Given the description of an element on the screen output the (x, y) to click on. 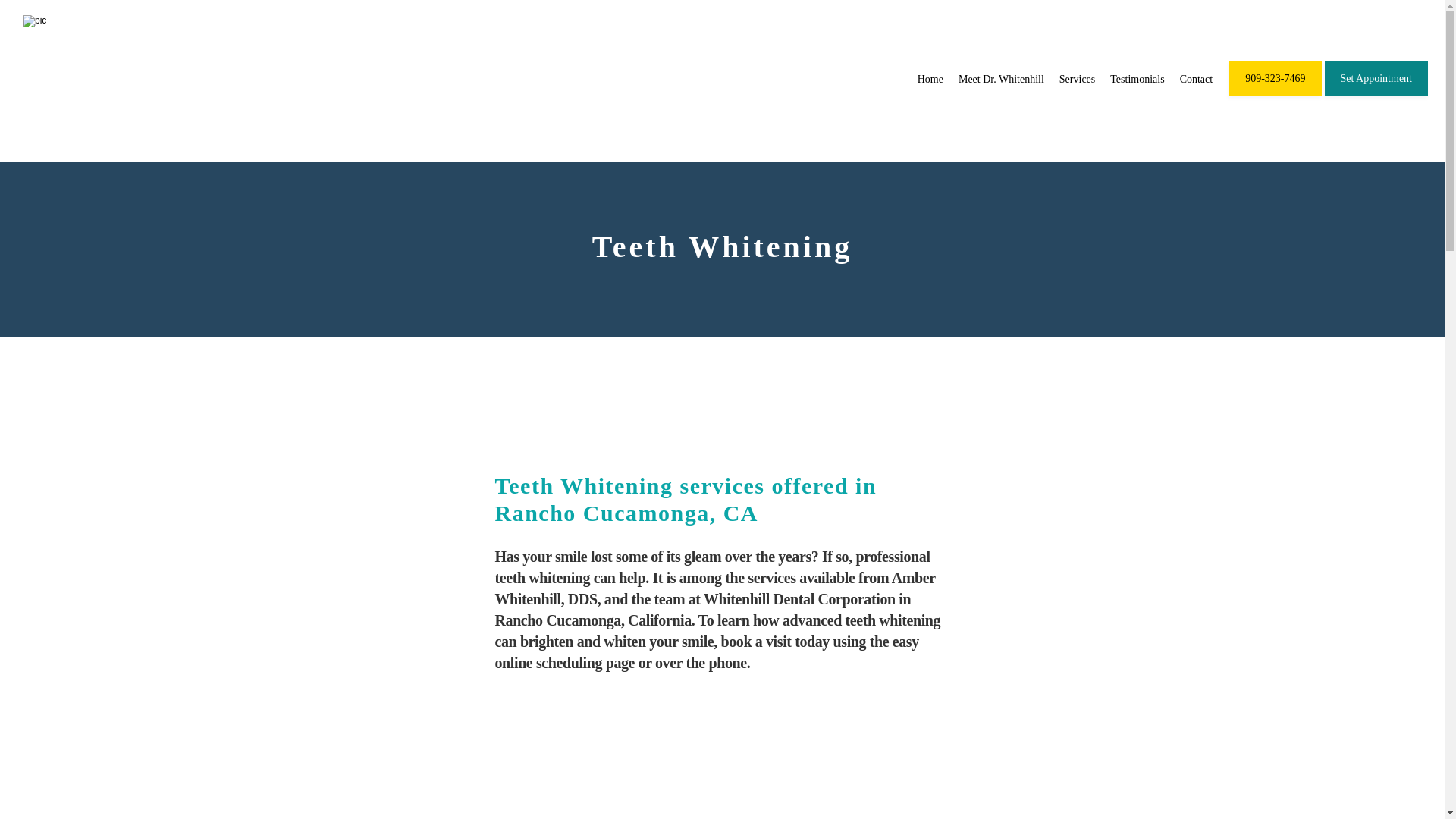
Meet Dr. Whitenhill (1000, 79)
909-323-7469 (1274, 94)
Services (1076, 79)
Home (930, 79)
Contact (1195, 79)
Testimonials (1136, 79)
Set Appointment (1375, 94)
